Given the description of an element on the screen output the (x, y) to click on. 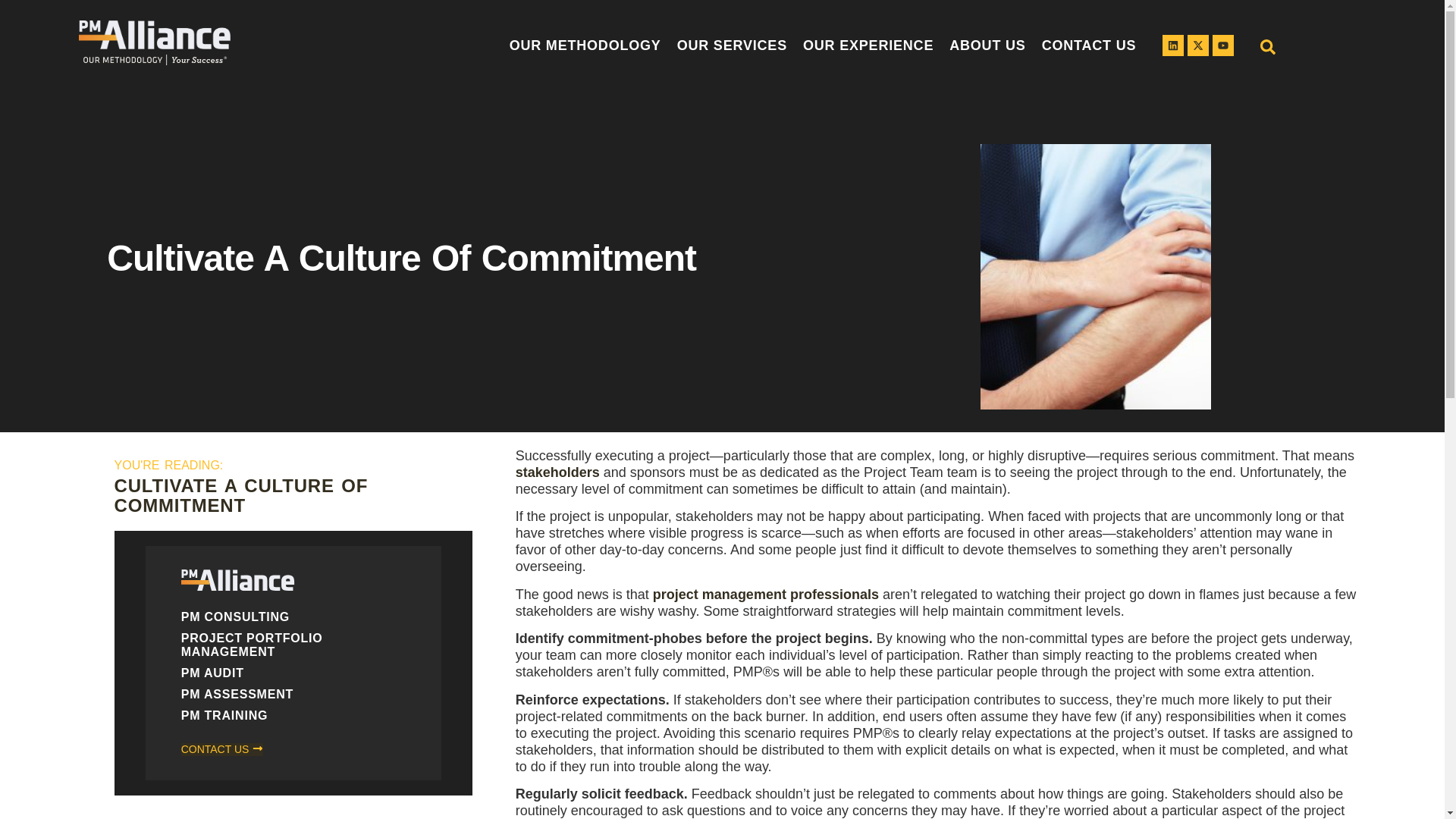
Project Management Services (735, 45)
OUR METHODOLOGY (587, 45)
Project Management Methodology (587, 45)
OUR SERVICES (735, 45)
